Given the description of an element on the screen output the (x, y) to click on. 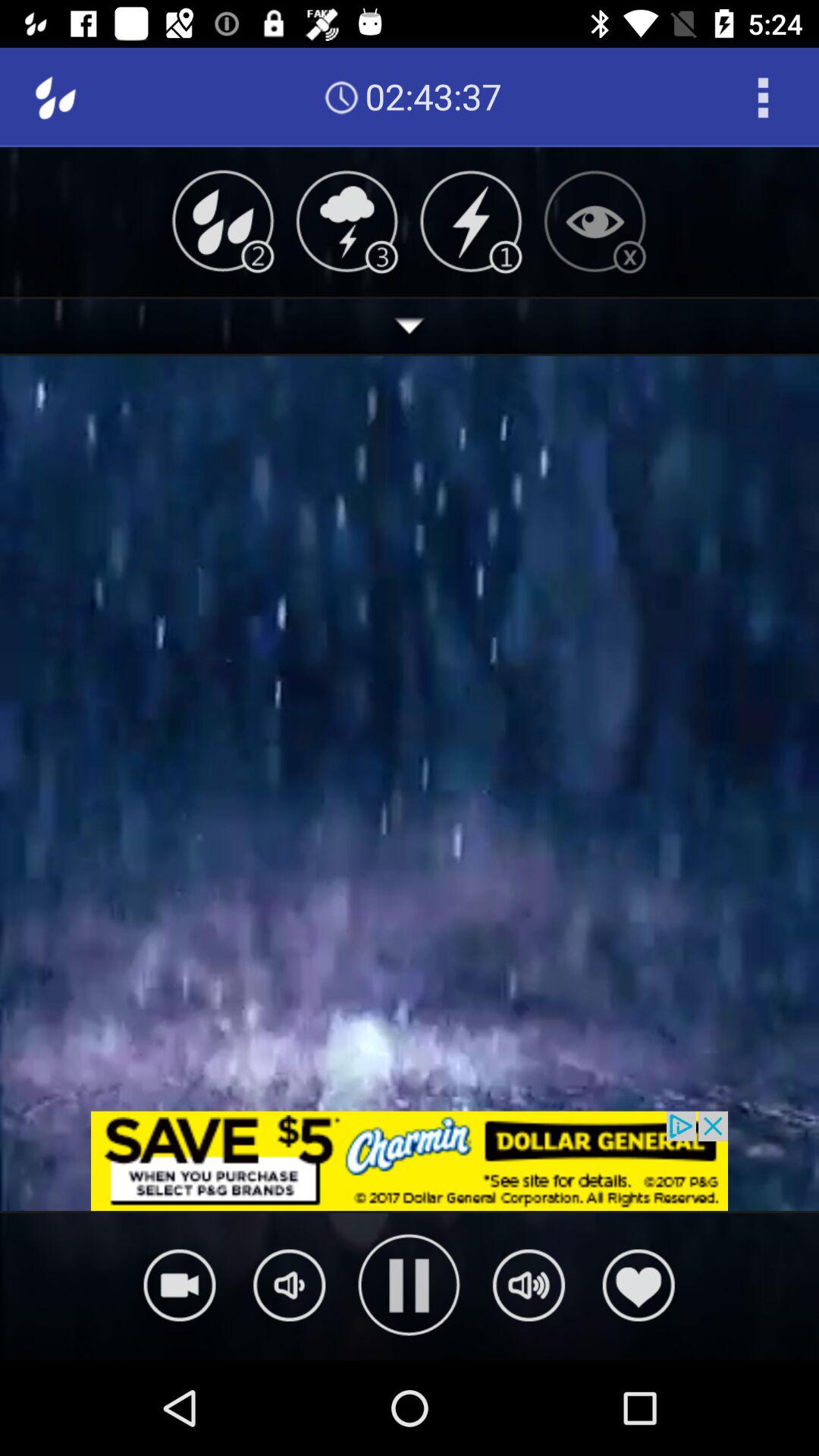
pull down tab (409, 326)
